Given the description of an element on the screen output the (x, y) to click on. 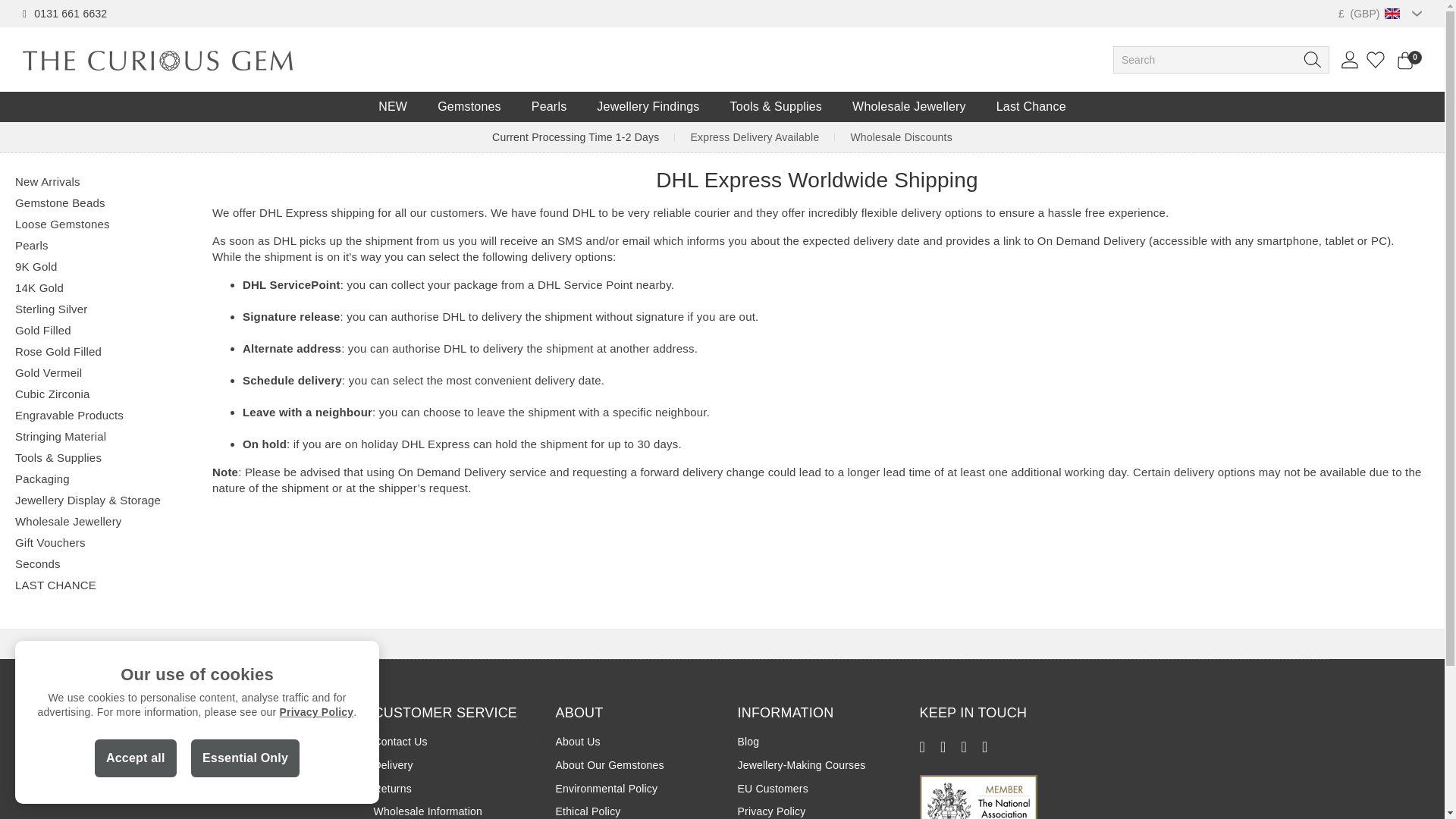
Go (1312, 59)
Wholesale Jewellery (909, 106)
Gemstones (469, 106)
0131 661 6632 (69, 13)
0 (1402, 65)
NEW (392, 106)
Pearls (549, 106)
Jewellery Findings (647, 106)
